Given the description of an element on the screen output the (x, y) to click on. 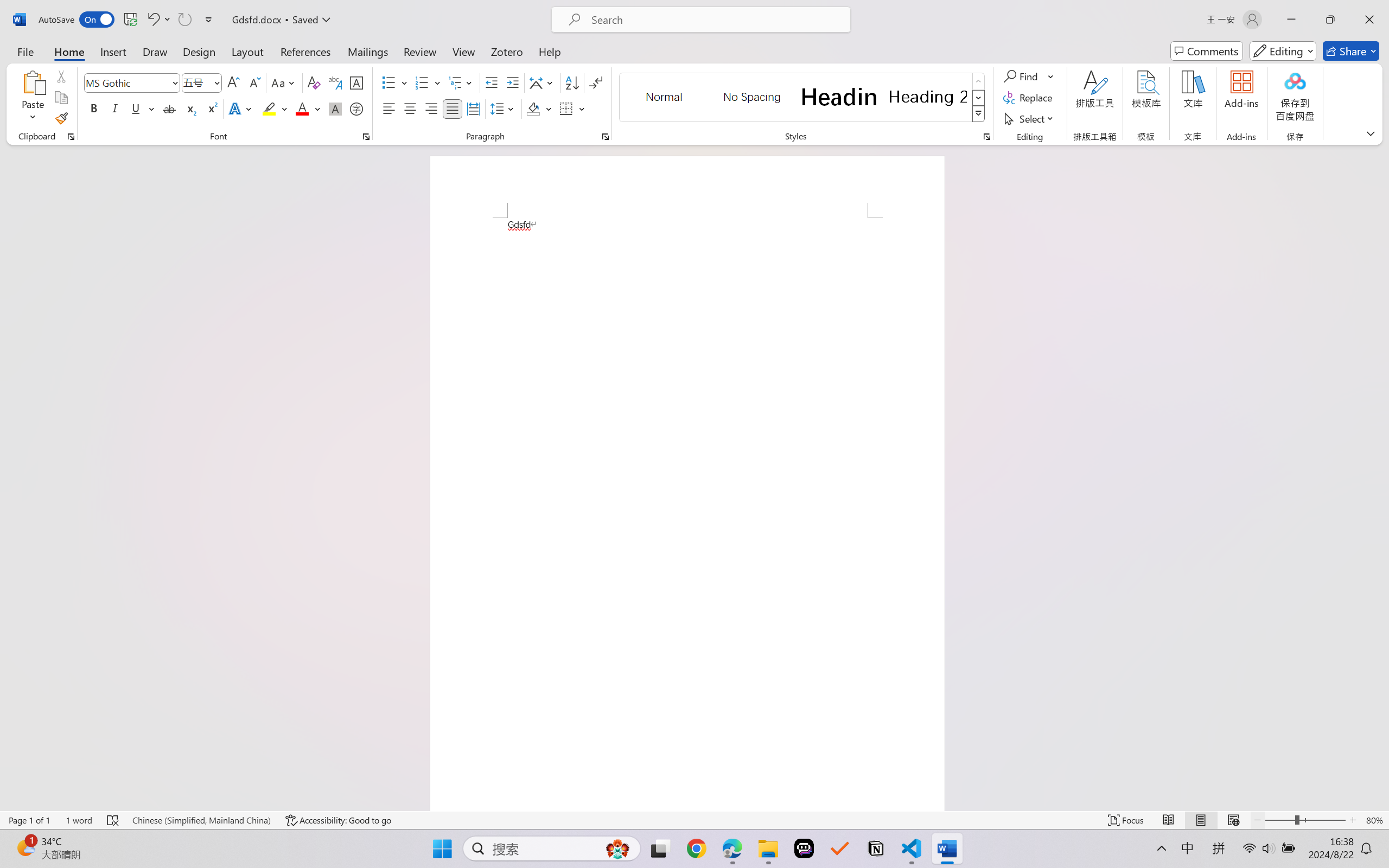
Class: MsoCommandBar (694, 819)
